Given the description of an element on the screen output the (x, y) to click on. 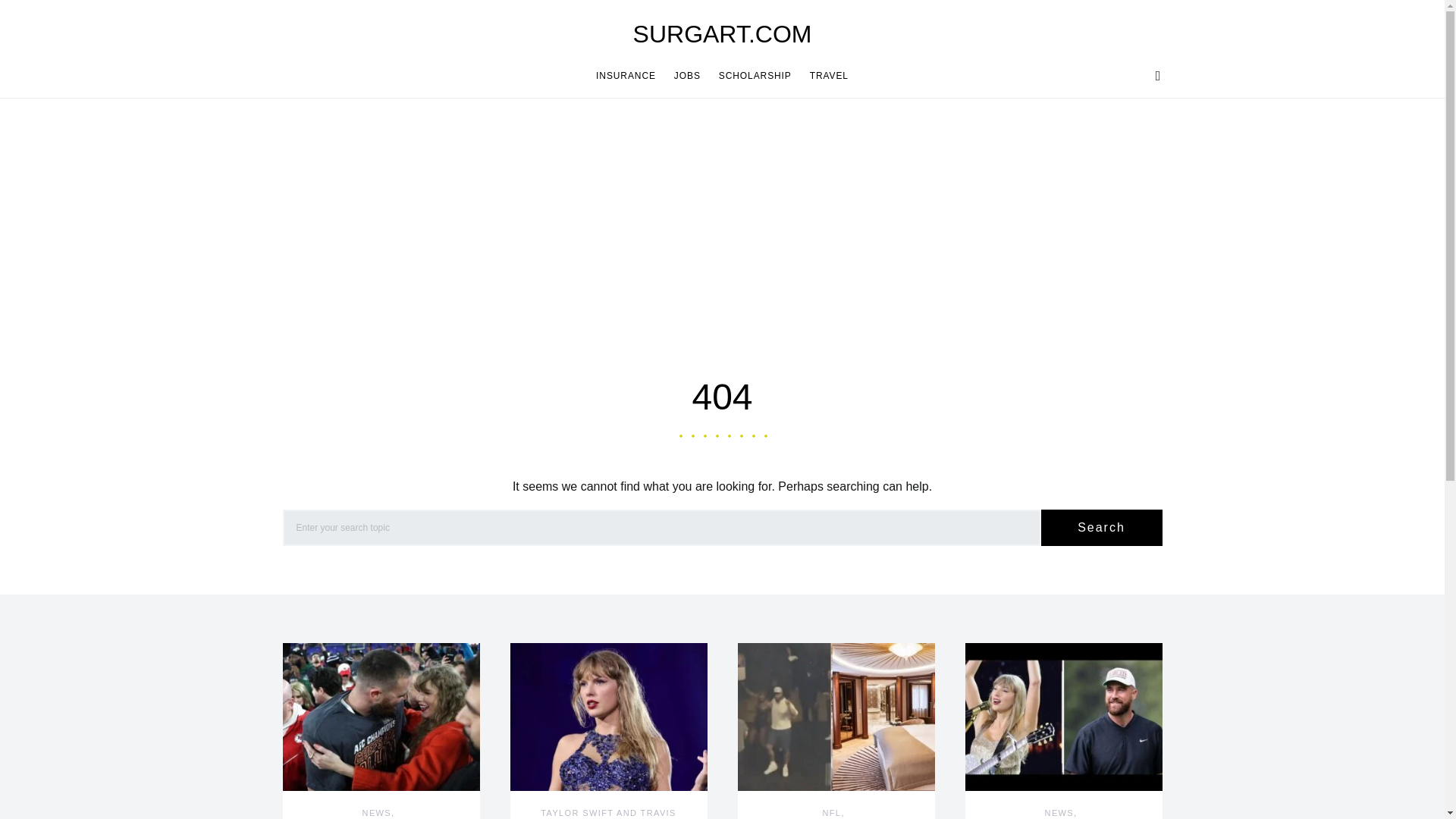
TRAVEL (824, 75)
NEWS (376, 812)
Search (1101, 527)
JOBS (687, 75)
INSURANCE (630, 75)
SCHOLARSHIP (755, 75)
NFL (831, 812)
SURGART.COM (722, 33)
TAYLOR SWIFT AND TRAVIS KELCE (608, 813)
